Given the description of an element on the screen output the (x, y) to click on. 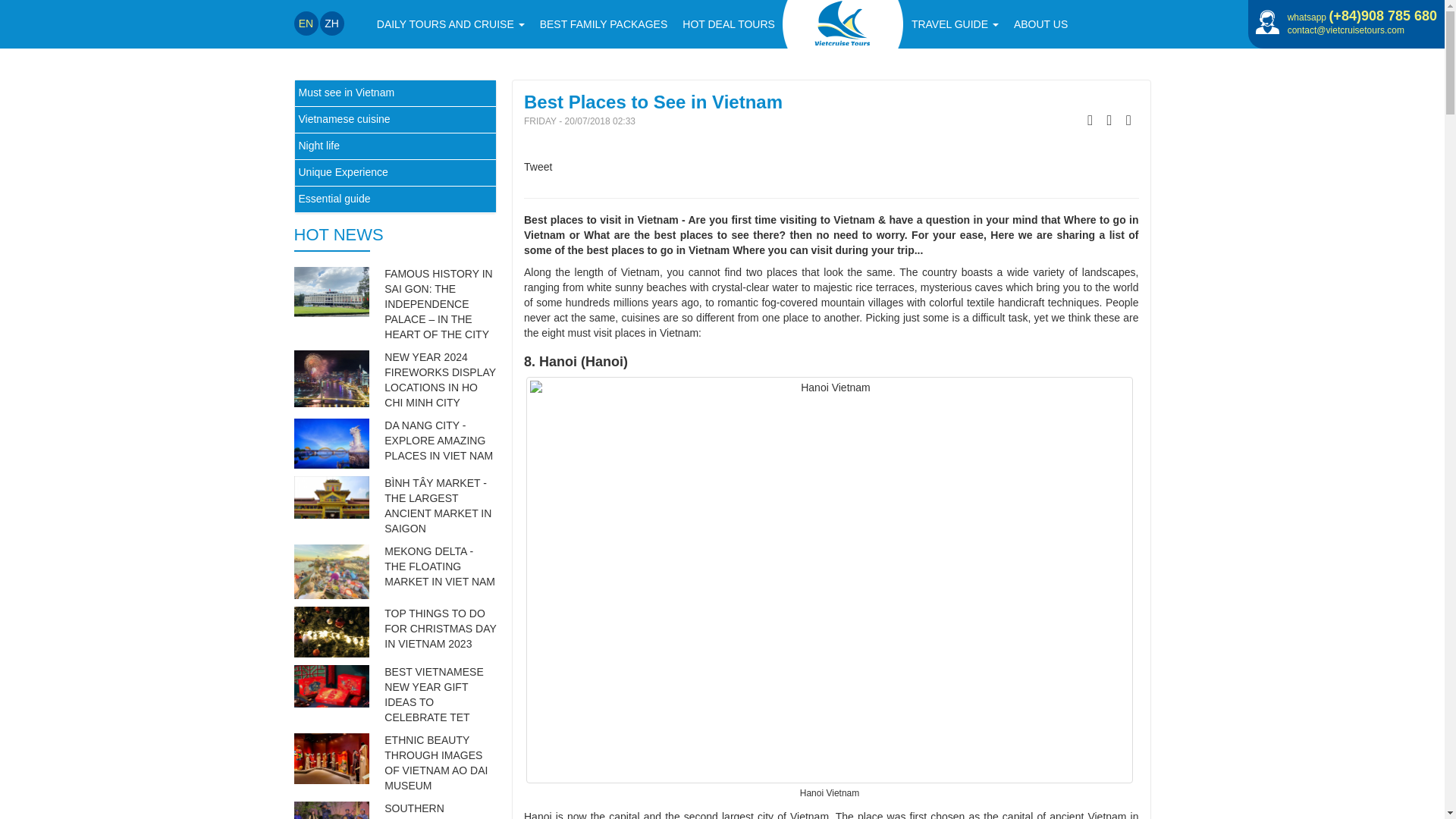
BEST FAMILY PACKAGES (603, 24)
BEST FAMILY PACKAGES (603, 24)
English (306, 23)
Daily tours and cruise (450, 24)
EN (306, 23)
TRAVEL GUIDE   (955, 24)
Travel Guide (955, 24)
Tweet (537, 166)
Hanoi (537, 814)
